Given the description of an element on the screen output the (x, y) to click on. 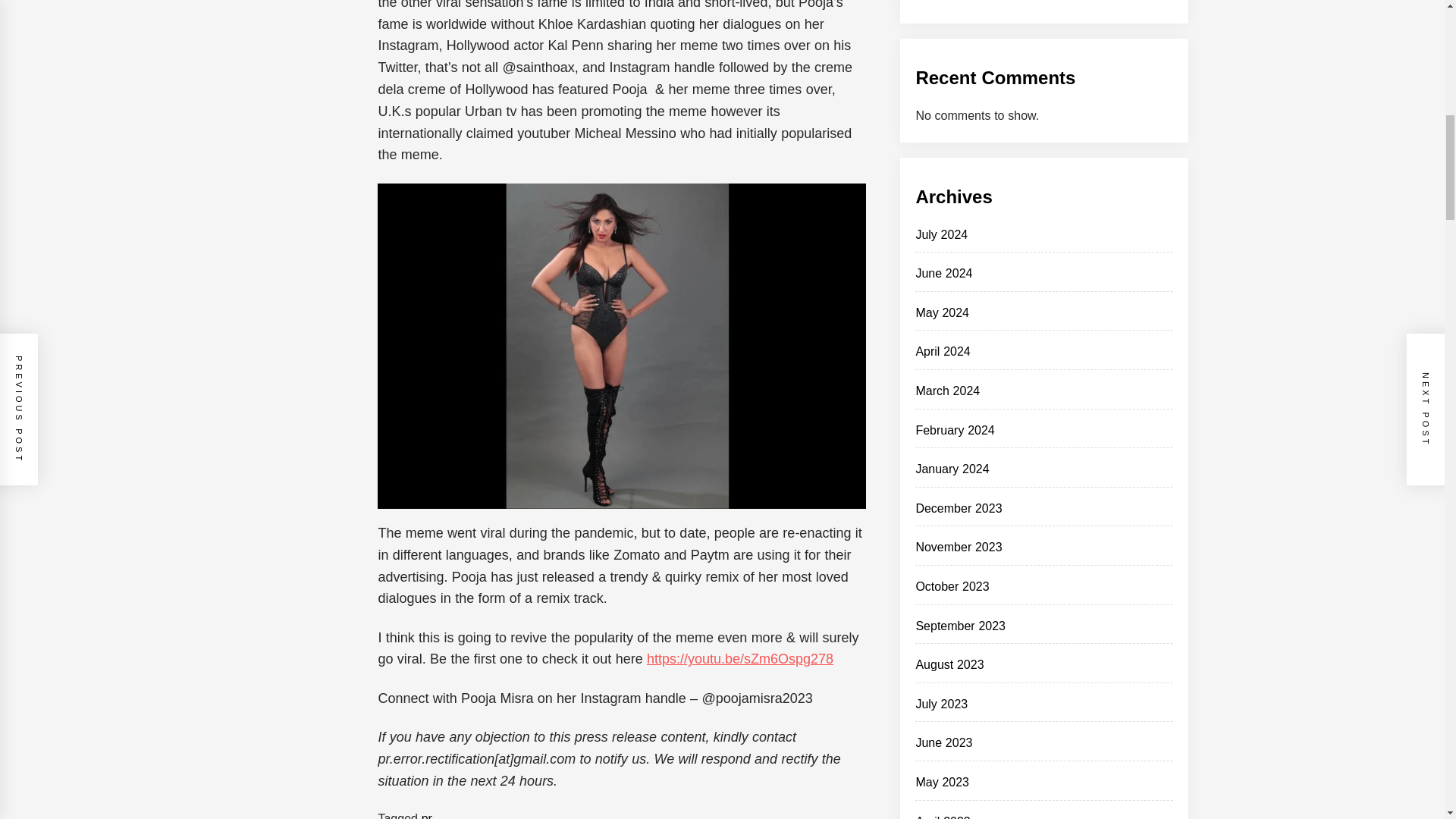
pr (427, 815)
May 2024 (942, 312)
March 2024 (947, 390)
April 2024 (942, 350)
June 2024 (943, 273)
July 2024 (941, 234)
